Given the description of an element on the screen output the (x, y) to click on. 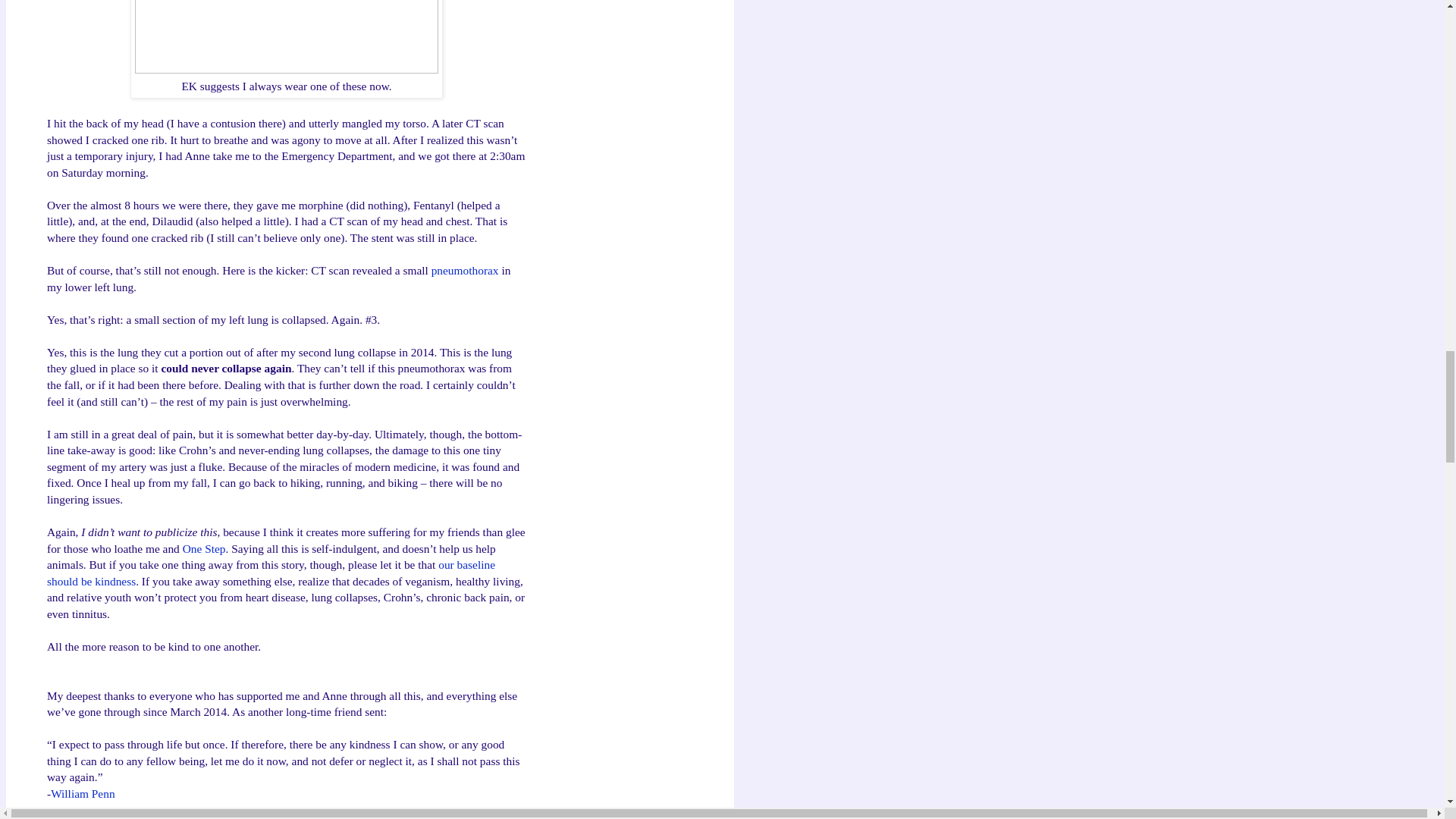
our baseline should be kindness (270, 572)
William Penn (82, 793)
pneumothorax (464, 269)
One Step (204, 548)
